Given the description of an element on the screen output the (x, y) to click on. 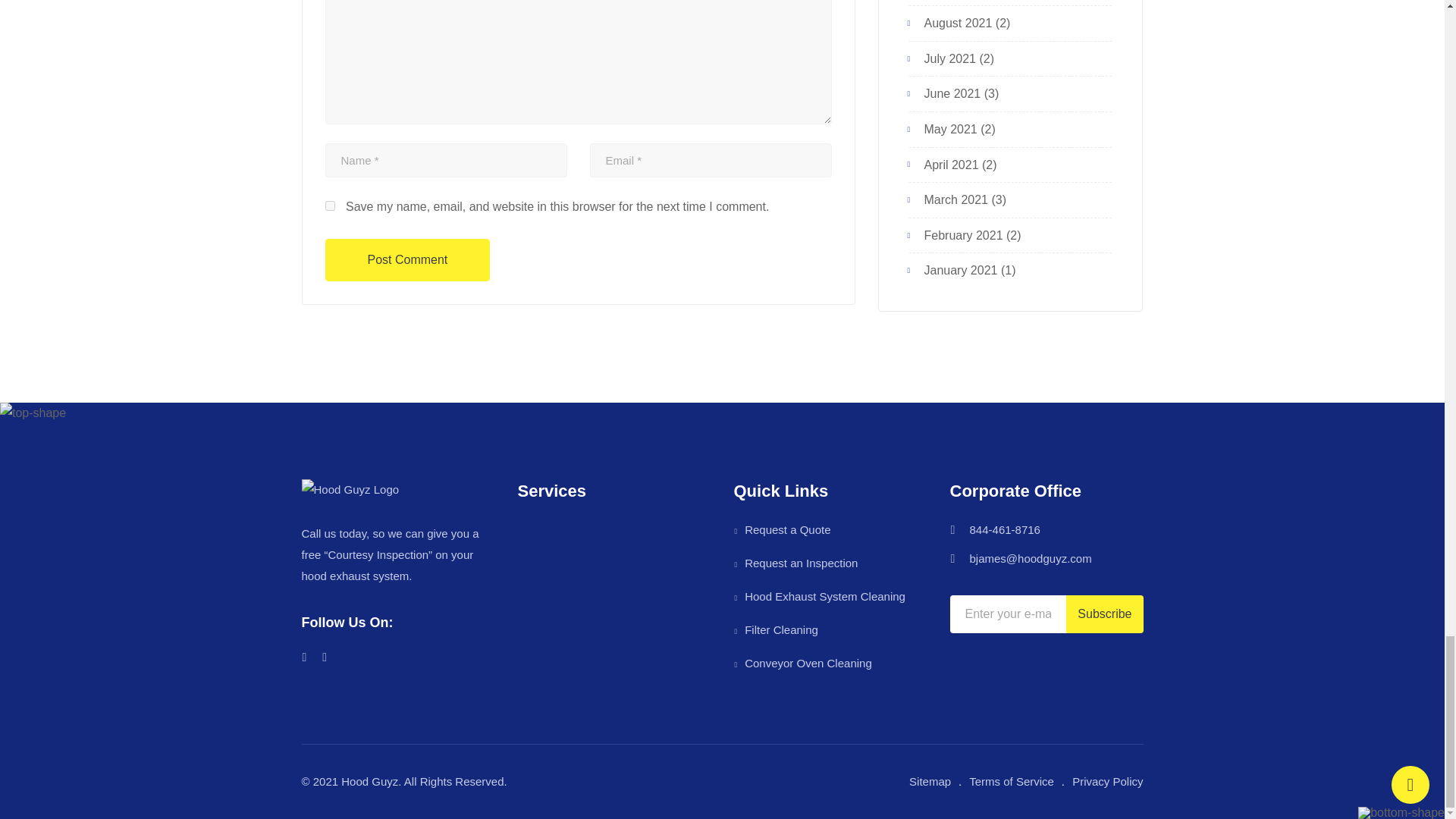
Subscribe (1103, 614)
yes (329, 205)
Post Comment (406, 260)
